Given the description of an element on the screen output the (x, y) to click on. 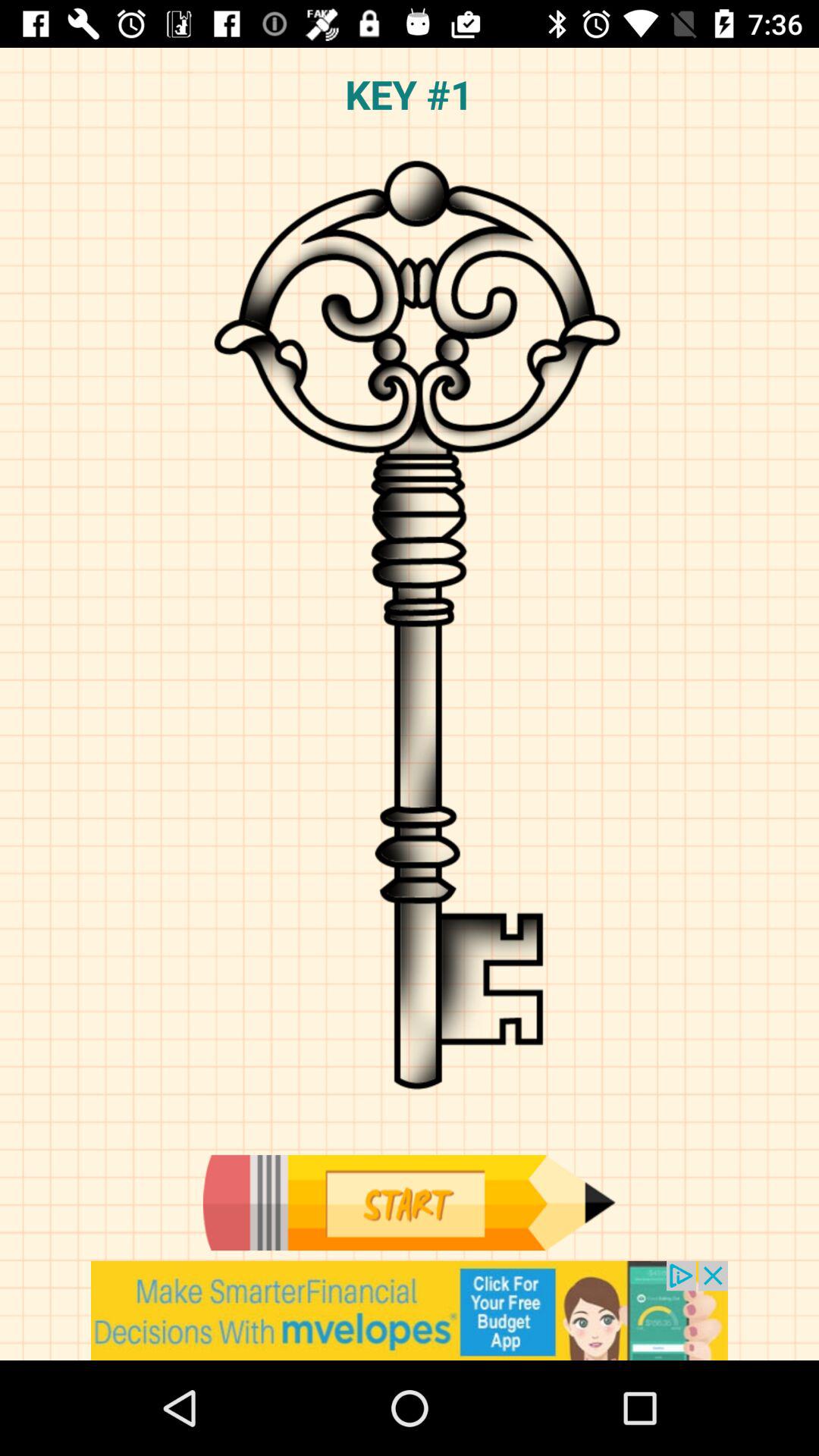
advertisement (409, 1310)
